Given the description of an element on the screen output the (x, y) to click on. 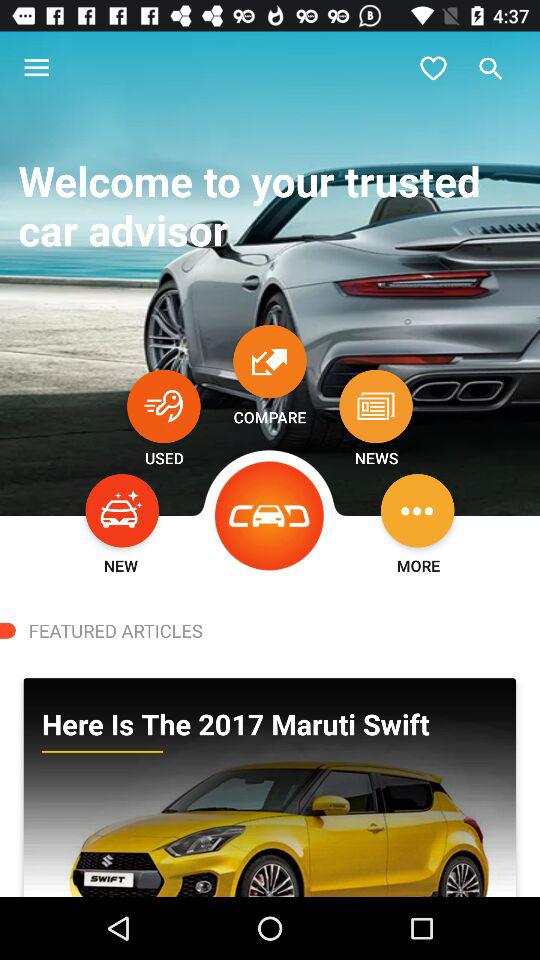
go to more (417, 510)
